Given the description of an element on the screen output the (x, y) to click on. 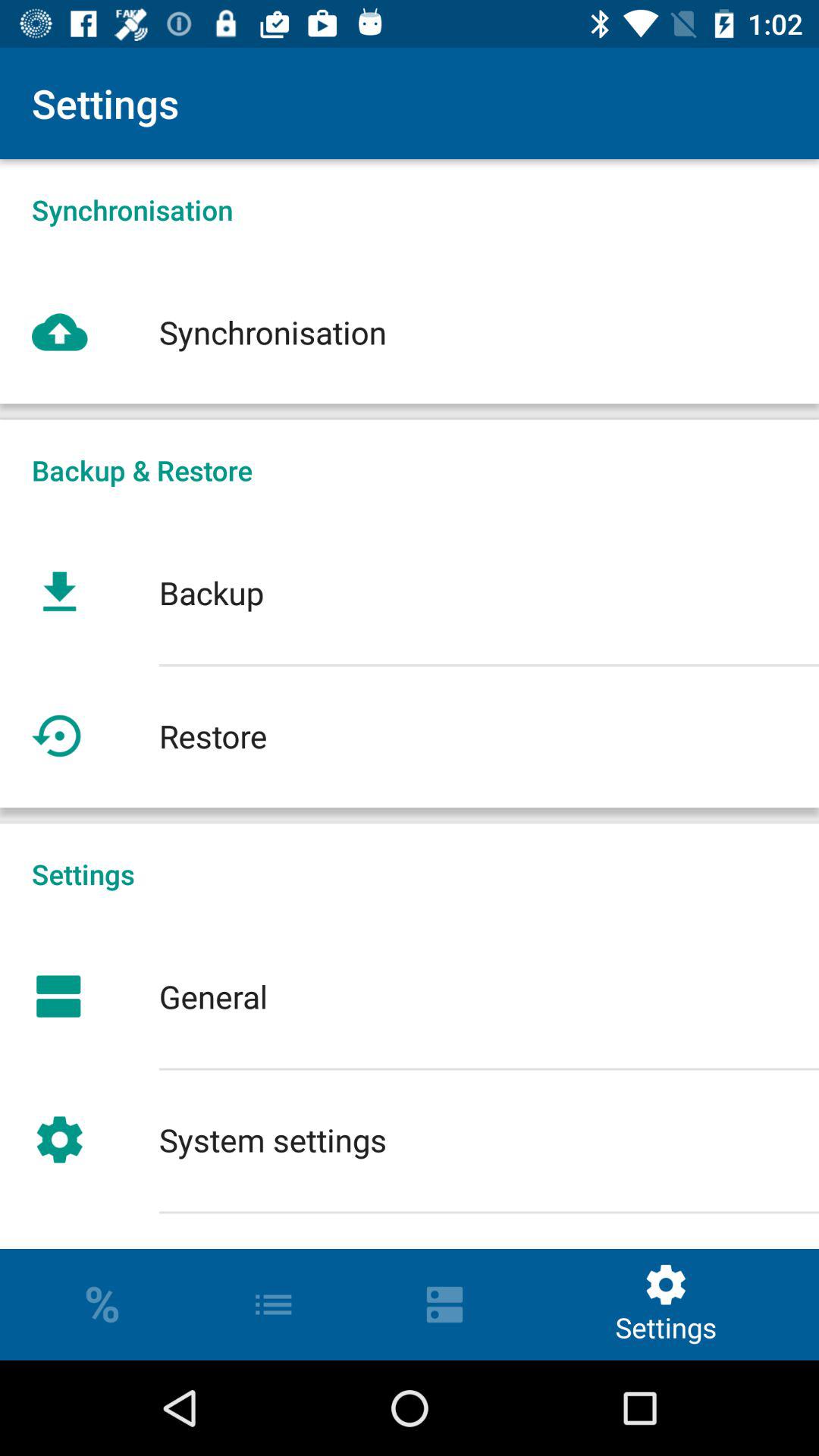
scroll until system settings icon (409, 1139)
